Given the description of an element on the screen output the (x, y) to click on. 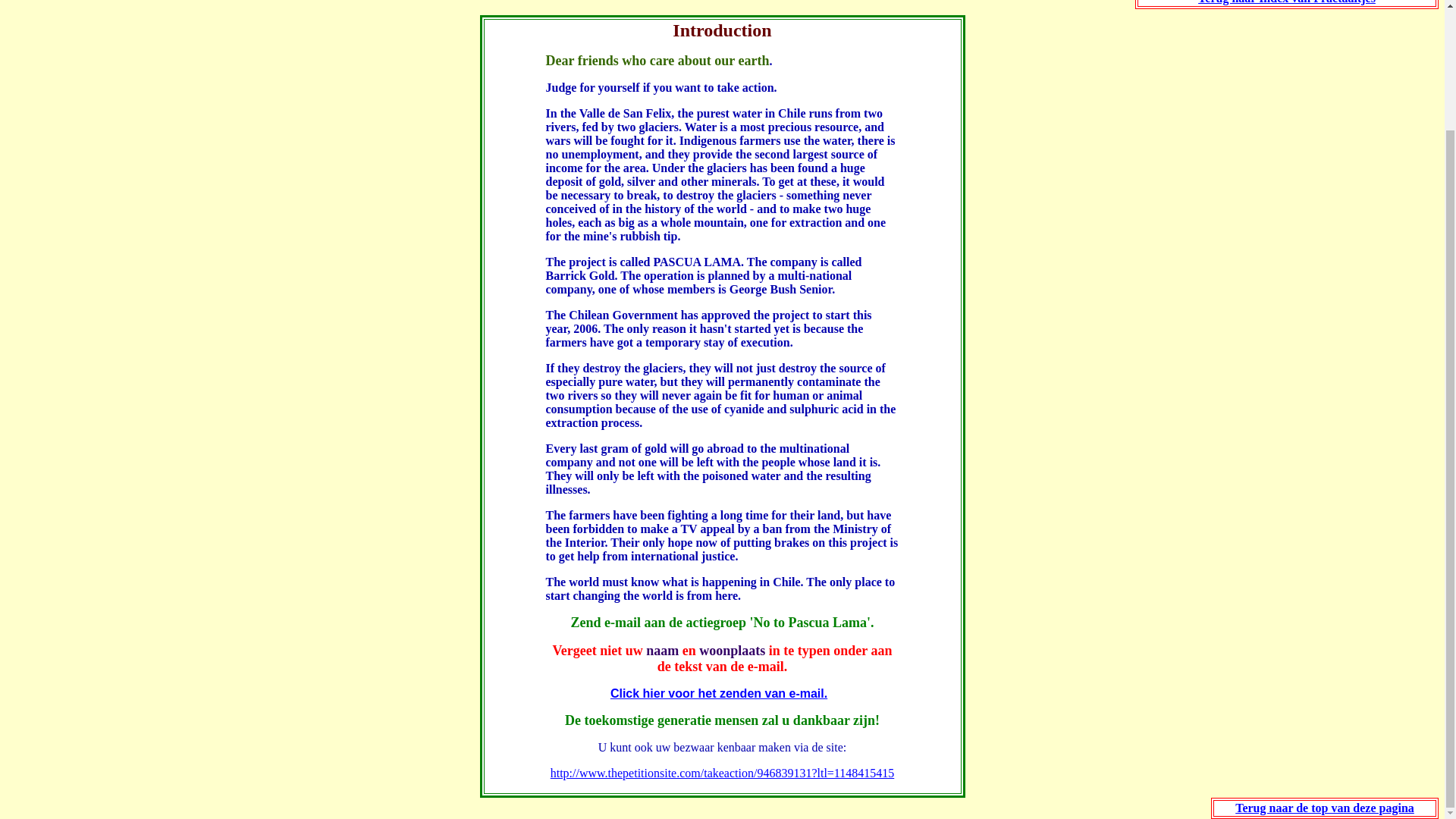
Terug naar de top van deze pagina (1323, 807)
Terug naar Index van Fractaaltjes (1286, 2)
Click hier voor het zenden van e-mail. (718, 693)
